Given the description of an element on the screen output the (x, y) to click on. 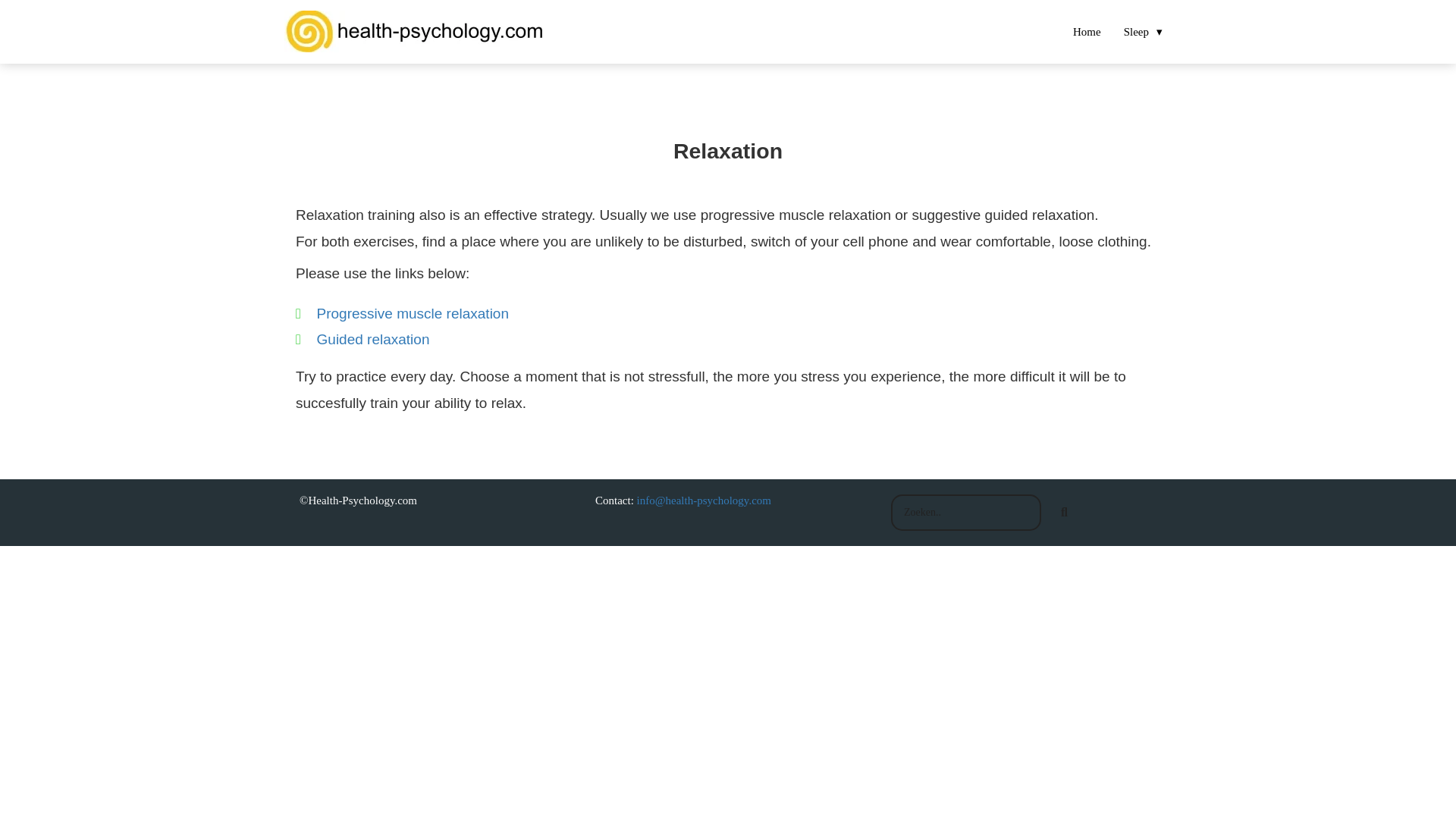
Guided relaxation and meditation (373, 339)
Progressive Relaxation (412, 313)
Home (1086, 30)
Progressive muscle relaxation (412, 313)
Guided relaxation (373, 339)
Logo (416, 31)
